Given the description of an element on the screen output the (x, y) to click on. 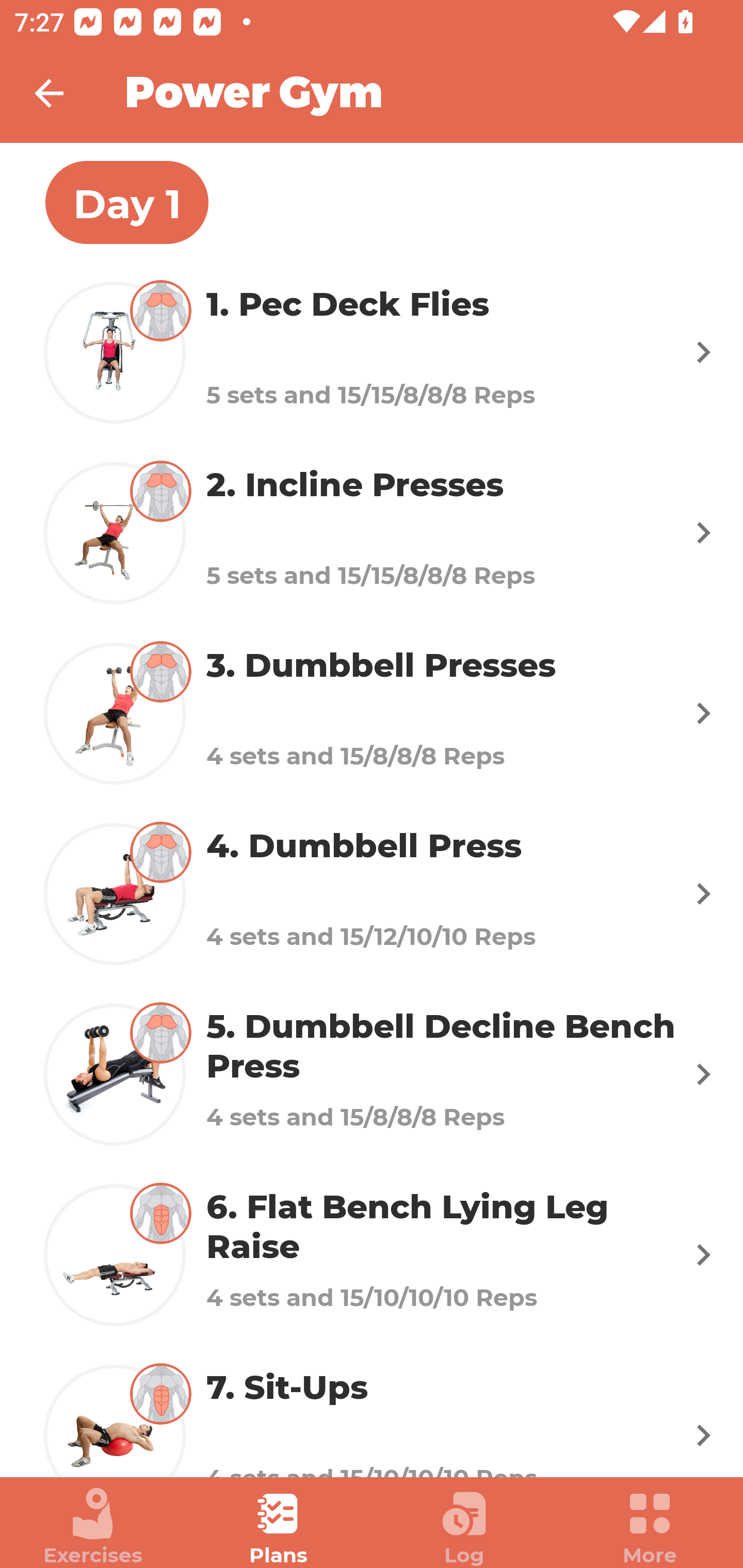
Back (62, 92)
1. Pec Deck Flies 5 sets and 15/15/8/8/8 Reps (371, 351)
2. Incline Presses 5 sets and 15/15/8/8/8 Reps (371, 532)
3. Dumbbell Presses 4 sets and 15/8/8/8 Reps (371, 712)
4. Dumbbell Press 4 sets and 15/12/10/10 Reps (371, 893)
7. Sit-Ups 4 sets and 15/10/10/10 Reps (371, 1411)
Exercises (92, 1527)
Plans (278, 1527)
Log (464, 1527)
More (650, 1527)
